Given the description of an element on the screen output the (x, y) to click on. 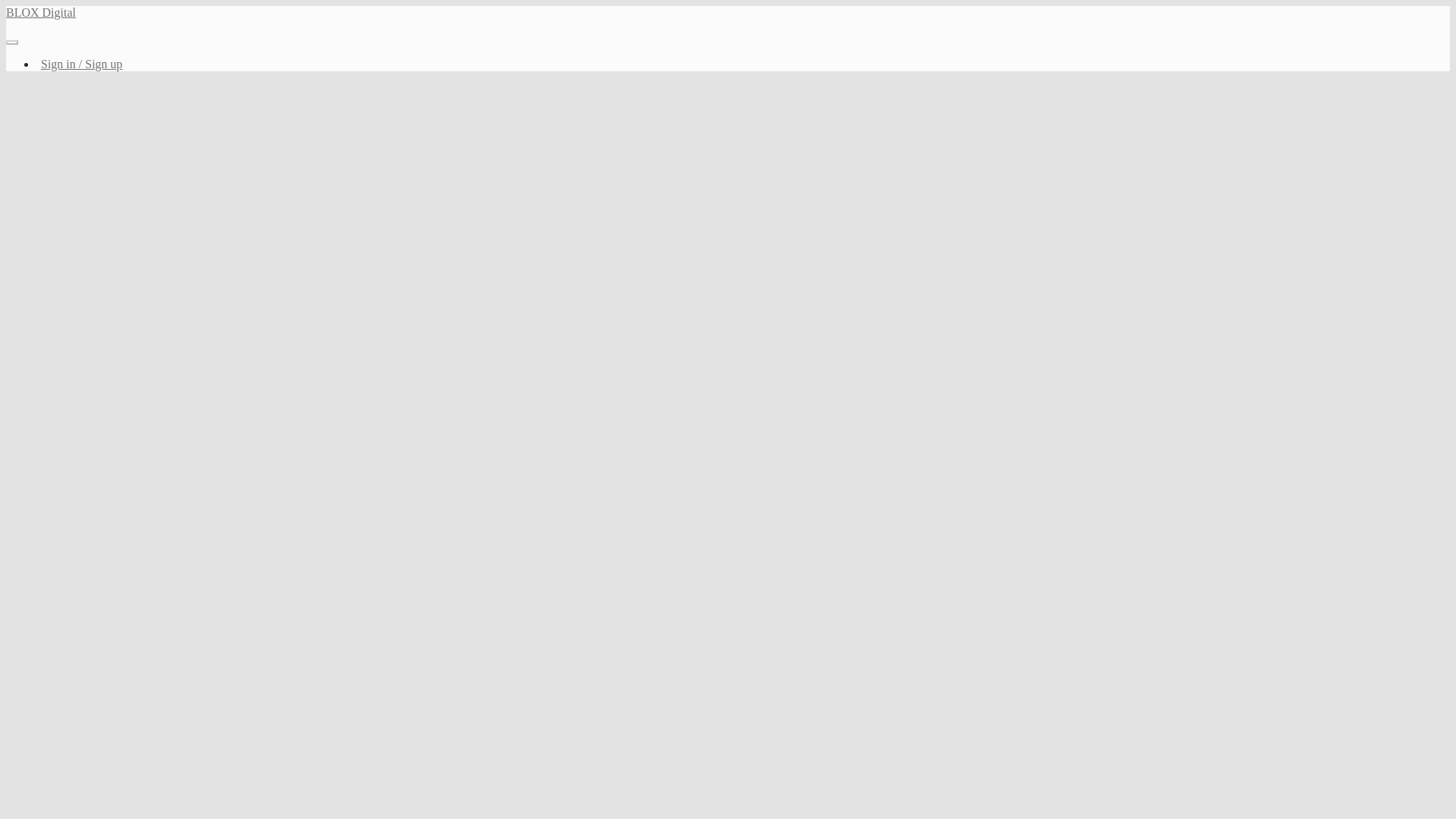
0 (351, 284)
Diane Cartwright (404, 112)
Post comment as (362, 379)
Customer support service (587, 429)
Post comment as (362, 379)
Oldest first (878, 342)
Follow (891, 284)
BLOX CMS (387, 66)
BLOX Digital (338, 16)
Ideas (443, 66)
General (328, 66)
